Given the description of an element on the screen output the (x, y) to click on. 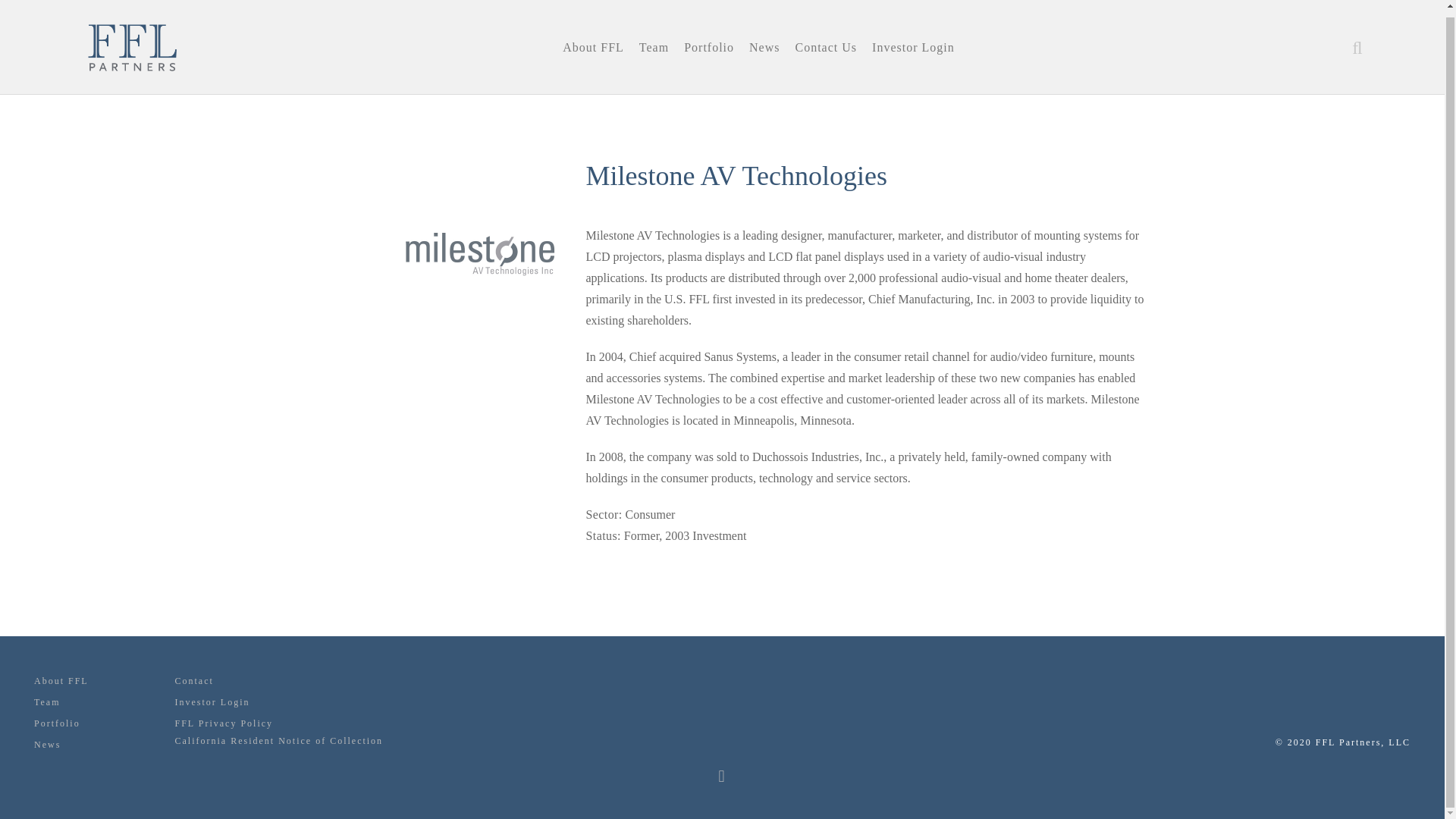
California Resident Notice of Collection (278, 740)
News (47, 744)
Team (46, 701)
Investor Login (913, 44)
About FFL (60, 680)
Portfolio (56, 723)
FFL Privacy Policy (223, 723)
Investor Login (211, 701)
Contact (193, 680)
